Given the description of an element on the screen output the (x, y) to click on. 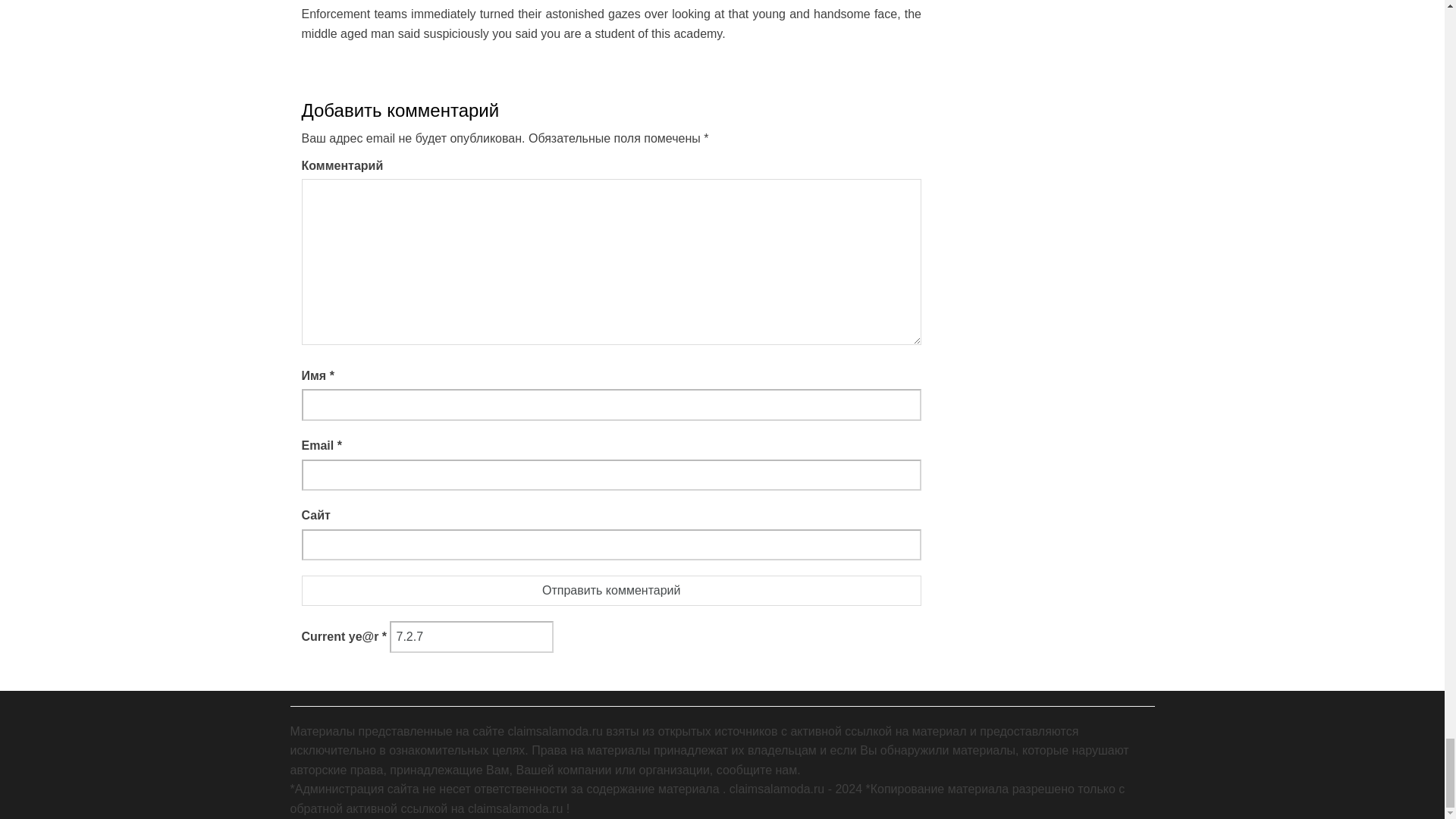
7.2.7 (471, 636)
